Given the description of an element on the screen output the (x, y) to click on. 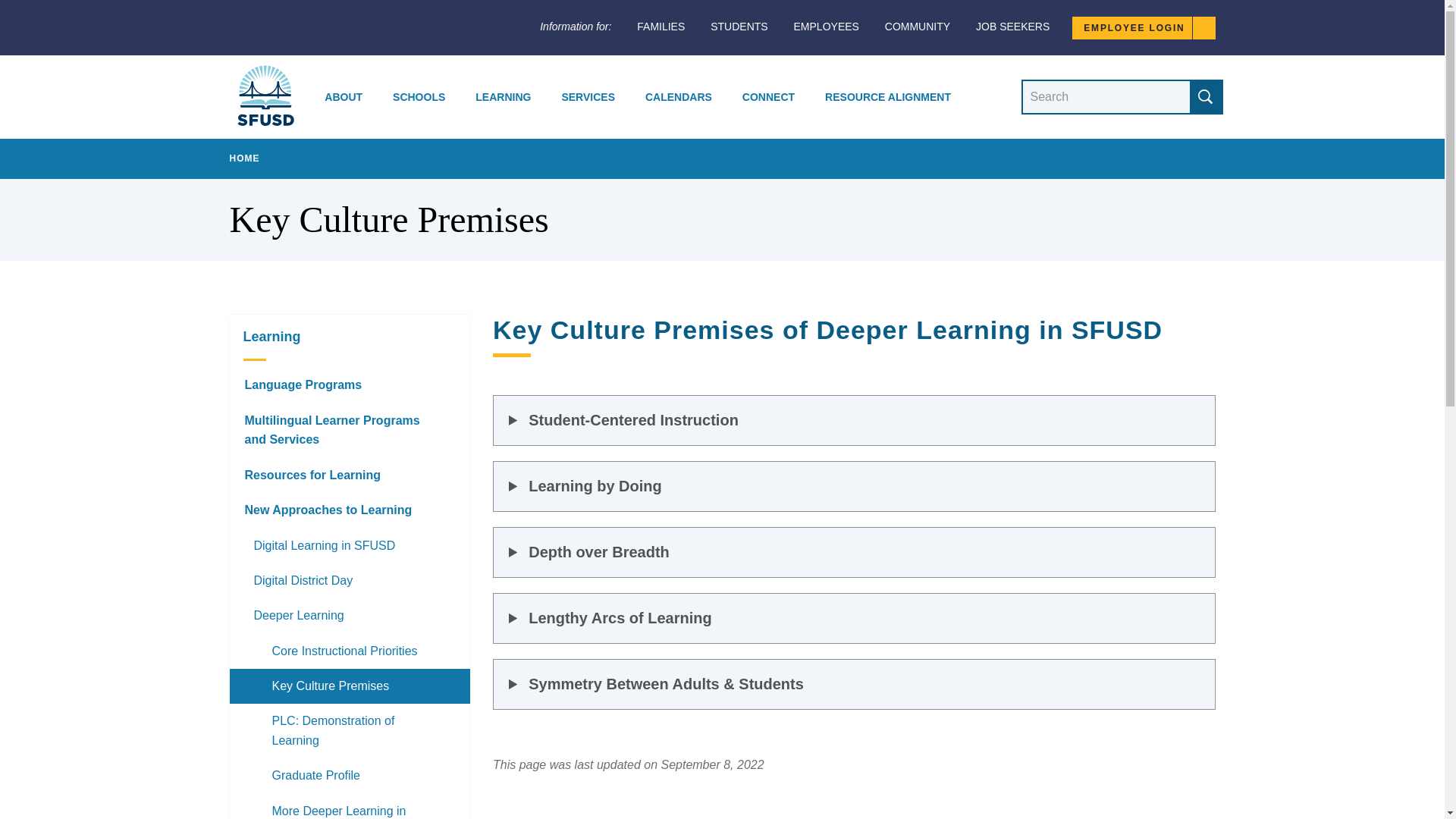
SERVICES (588, 96)
COMMUNITY (917, 26)
FAMILIES (660, 26)
STUDENTS (738, 26)
CALENDARS (678, 96)
Learn about our community (917, 26)
LEARNING (503, 96)
